Given the description of an element on the screen output the (x, y) to click on. 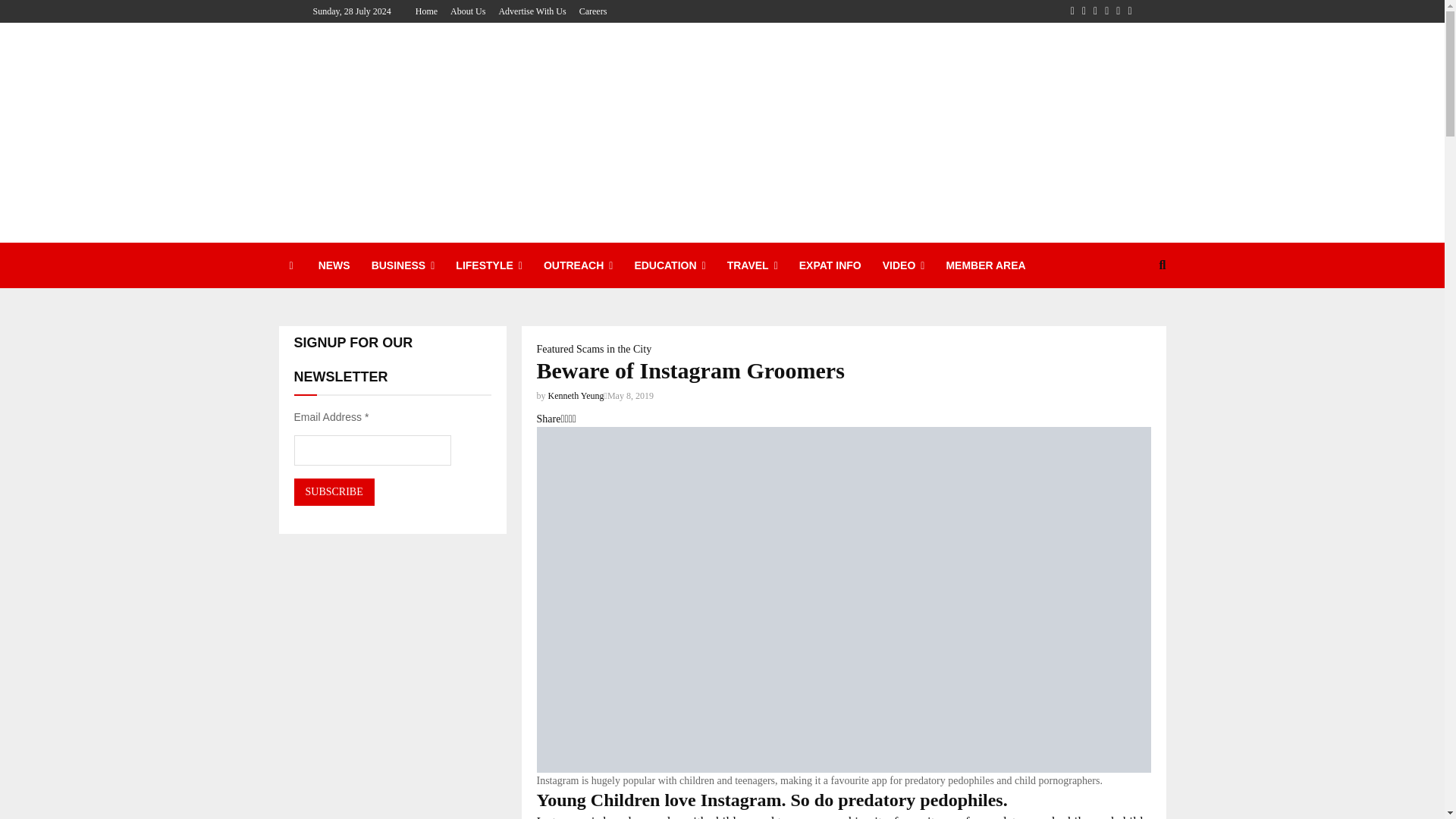
Youtube (1117, 11)
Email (1128, 11)
Twitter (1083, 11)
Linkedin (1106, 11)
Advertise With Us (531, 11)
BUSINESS (403, 265)
EXPAT INFO (830, 265)
LIFESTYLE (488, 265)
Linkedin (1106, 11)
Careers (593, 11)
OUTREACH (577, 265)
NEWS (334, 265)
Home (426, 11)
TRAVEL (752, 265)
Facebook (1072, 11)
